Given the description of an element on the screen output the (x, y) to click on. 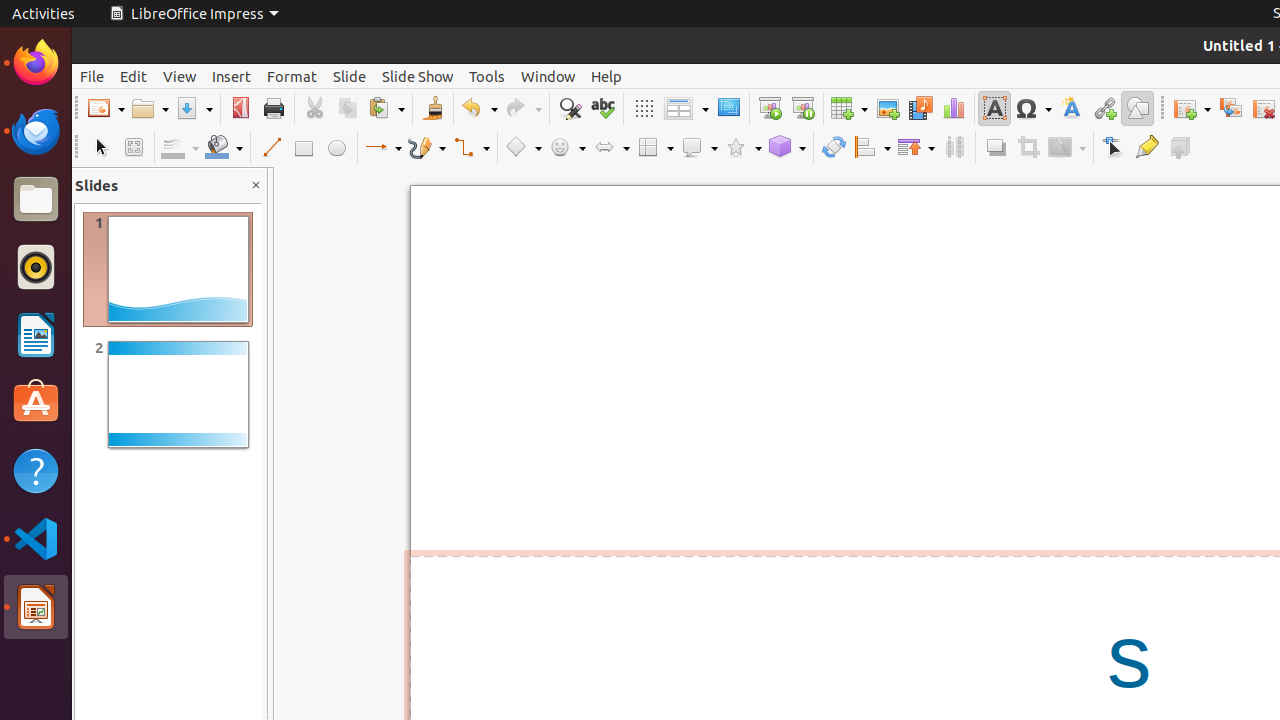
Save Element type: push-button (194, 108)
Start from First Slide Element type: push-button (769, 108)
Basic Shapes Element type: push-button (523, 147)
Close Pane Element type: push-button (255, 185)
Table Element type: push-button (849, 108)
